Given the description of an element on the screen output the (x, y) to click on. 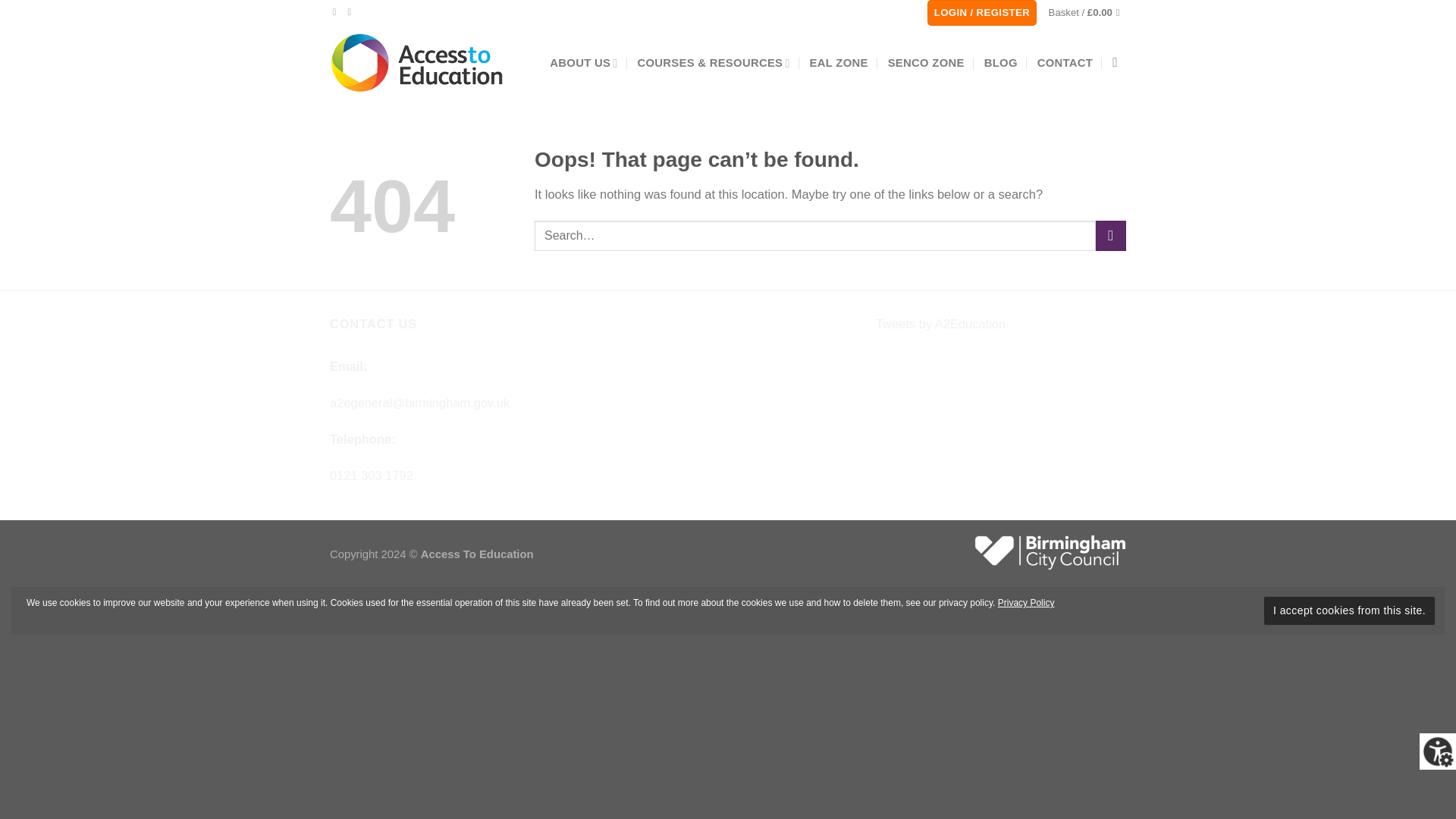
I accept cookies from this site. (1349, 610)
Access to Education (416, 62)
Basket (1086, 12)
ABOUT US (583, 62)
